Given the description of an element on the screen output the (x, y) to click on. 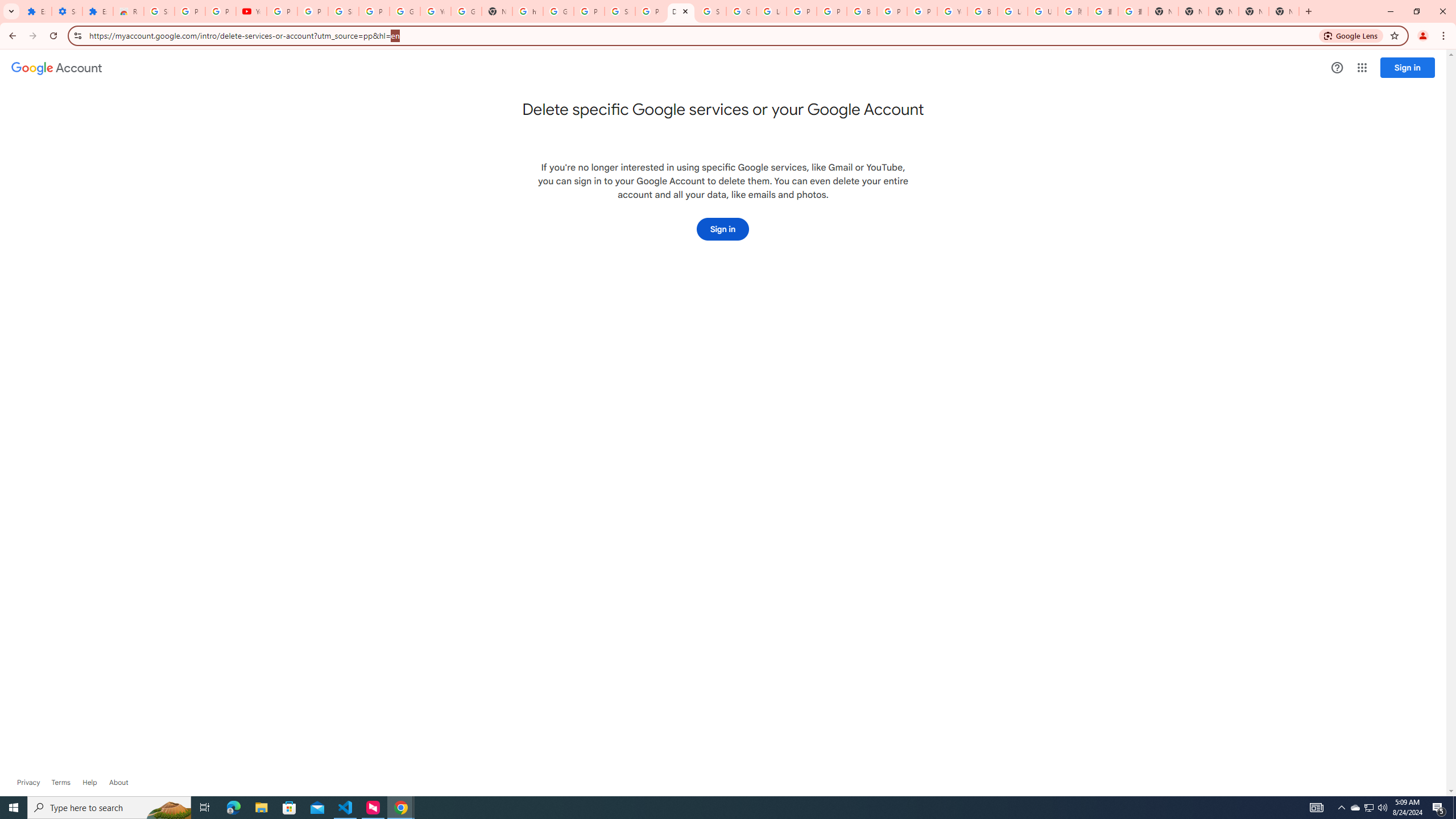
Reviews: Helix Fruit Jump Arcade Game (127, 11)
Settings (66, 11)
Privacy Help Center - Policies Help (801, 11)
New Tab (1283, 11)
Google Account settings (56, 68)
YouTube (251, 11)
